Given the description of an element on the screen output the (x, y) to click on. 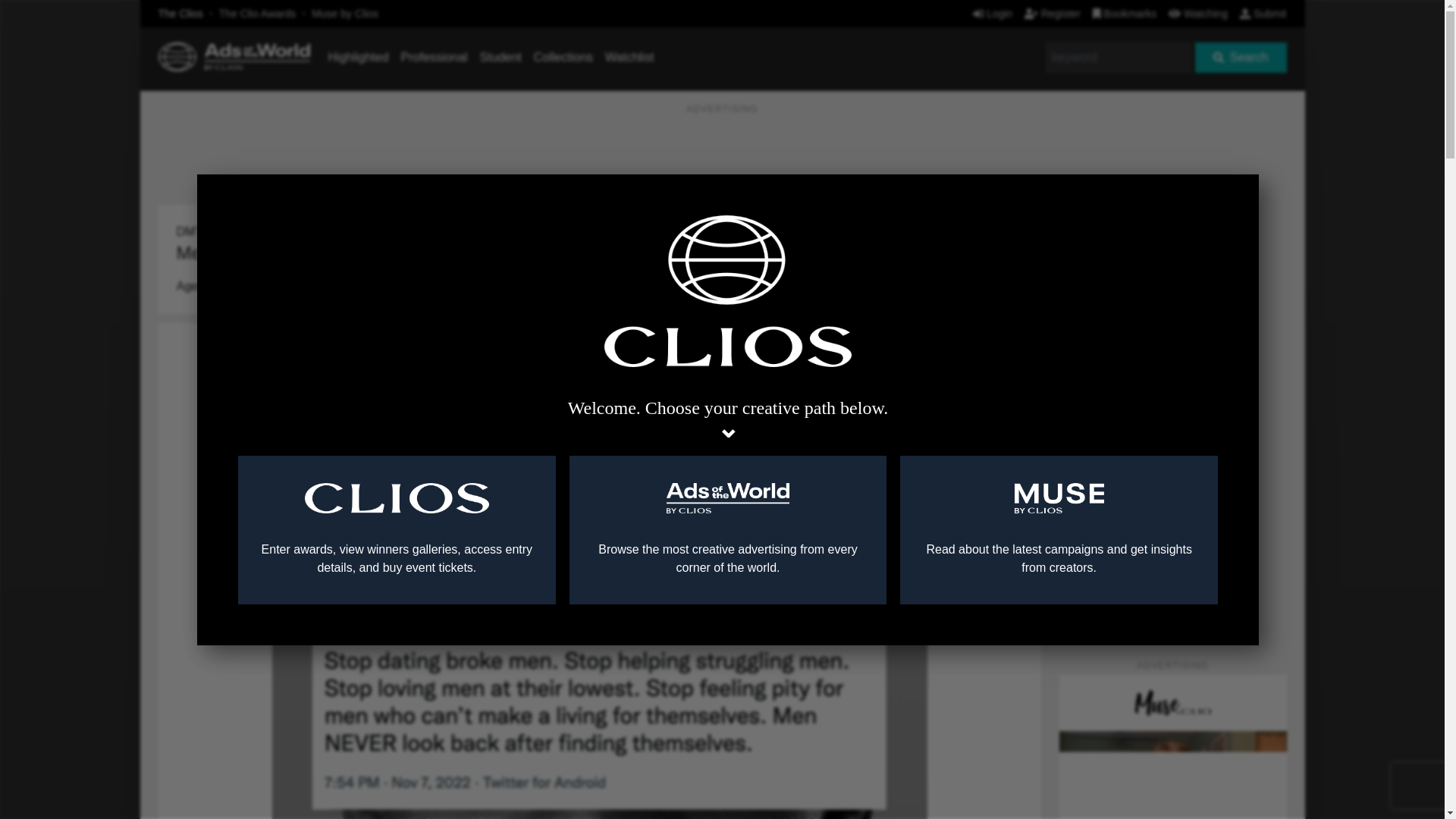
Submit (1263, 13)
Watchlist (629, 56)
The Clio Awards (258, 13)
Login to Bookmark (1018, 209)
Highlighted (357, 56)
Login (991, 13)
Search (1241, 57)
Student (500, 56)
Watching (1198, 13)
Muse by Clios (344, 13)
Bookmarks (1125, 13)
Watching (1198, 13)
Professional (434, 56)
Collections (563, 56)
Bookmarks (1125, 13)
